Given the description of an element on the screen output the (x, y) to click on. 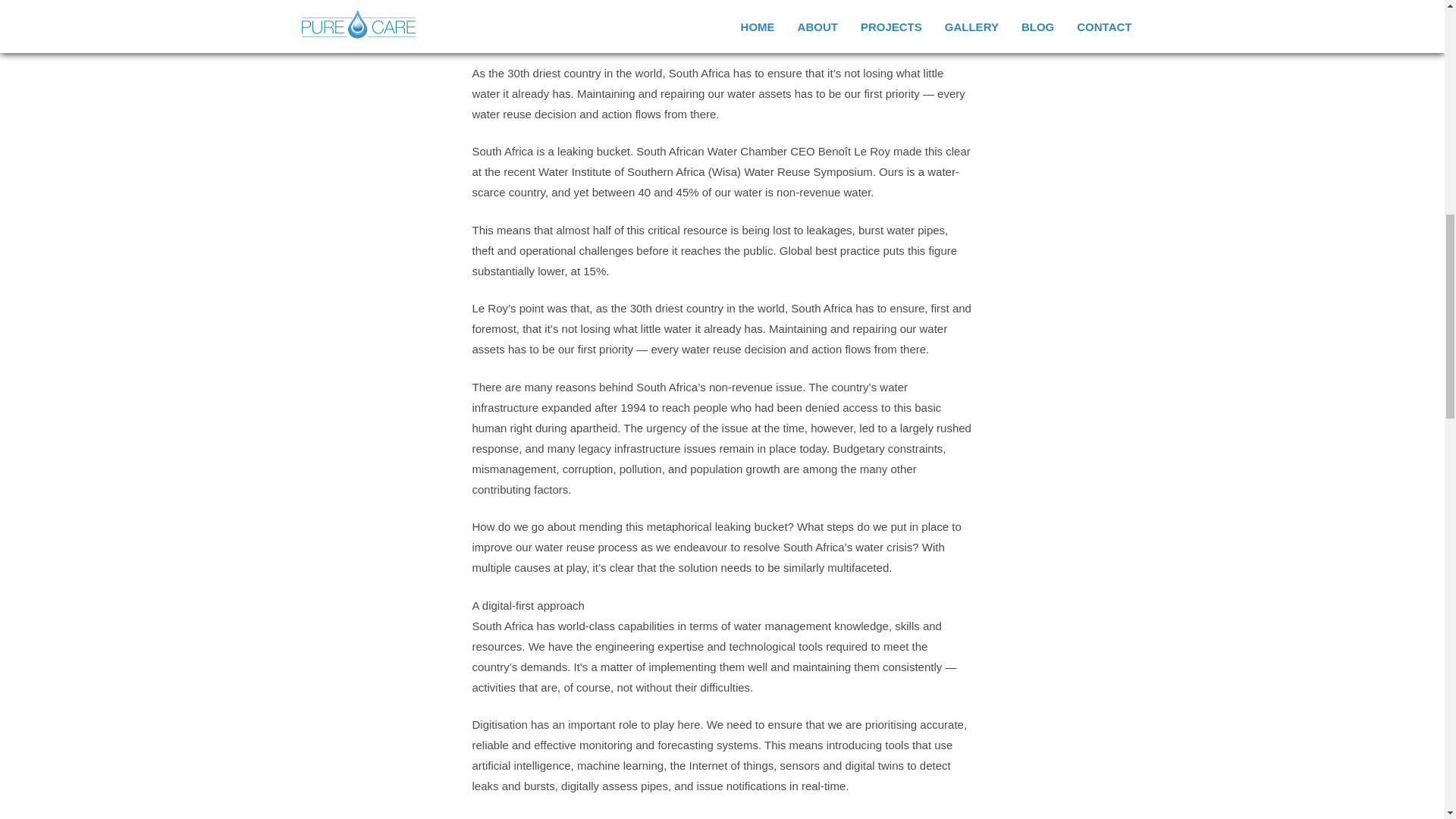
News (767, 24)
Elfas (603, 24)
Posts by Elfas (603, 24)
